Given the description of an element on the screen output the (x, y) to click on. 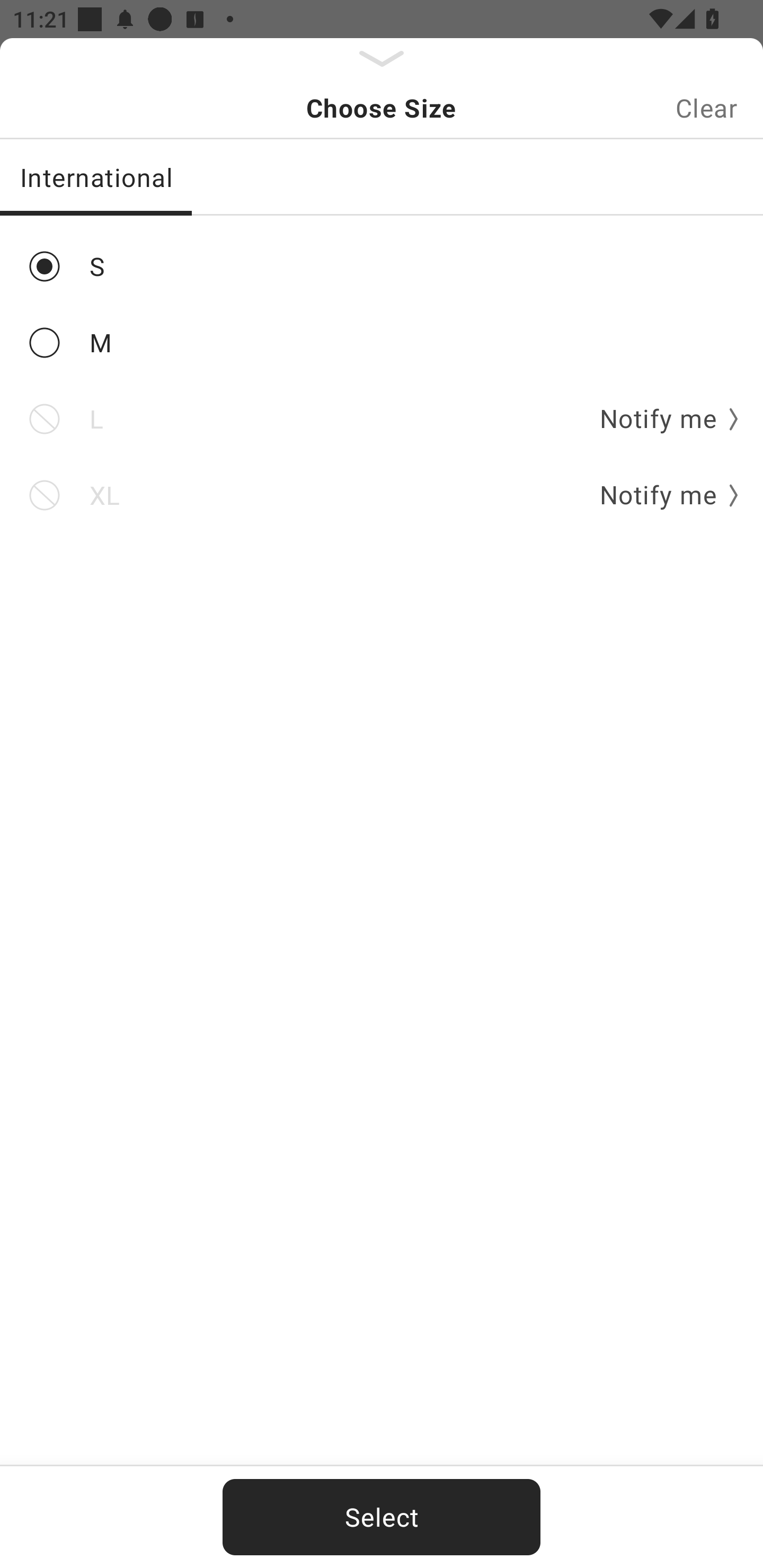
Clear (706, 107)
S (381, 266)
M (381, 342)
L Notify me (381, 419)
Notify me (661, 419)
XL Notify me (381, 495)
Notify me (661, 495)
Select (381, 1516)
